Given the description of an element on the screen output the (x, y) to click on. 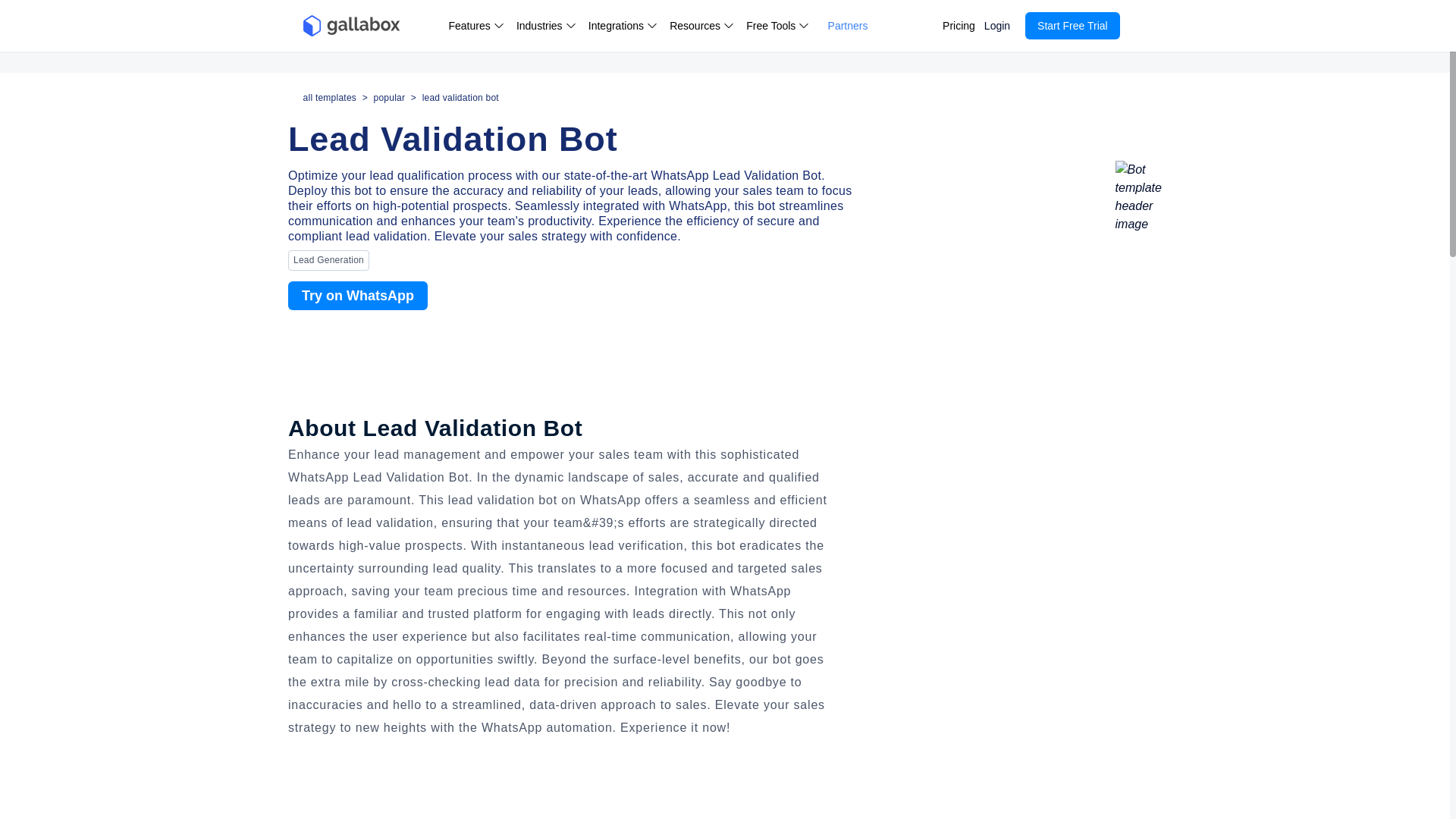
Integrations (623, 25)
Features (475, 25)
Resources (701, 25)
Pricing (958, 25)
Free Tools (777, 25)
Industries (546, 25)
Partners (847, 25)
